Given the description of an element on the screen output the (x, y) to click on. 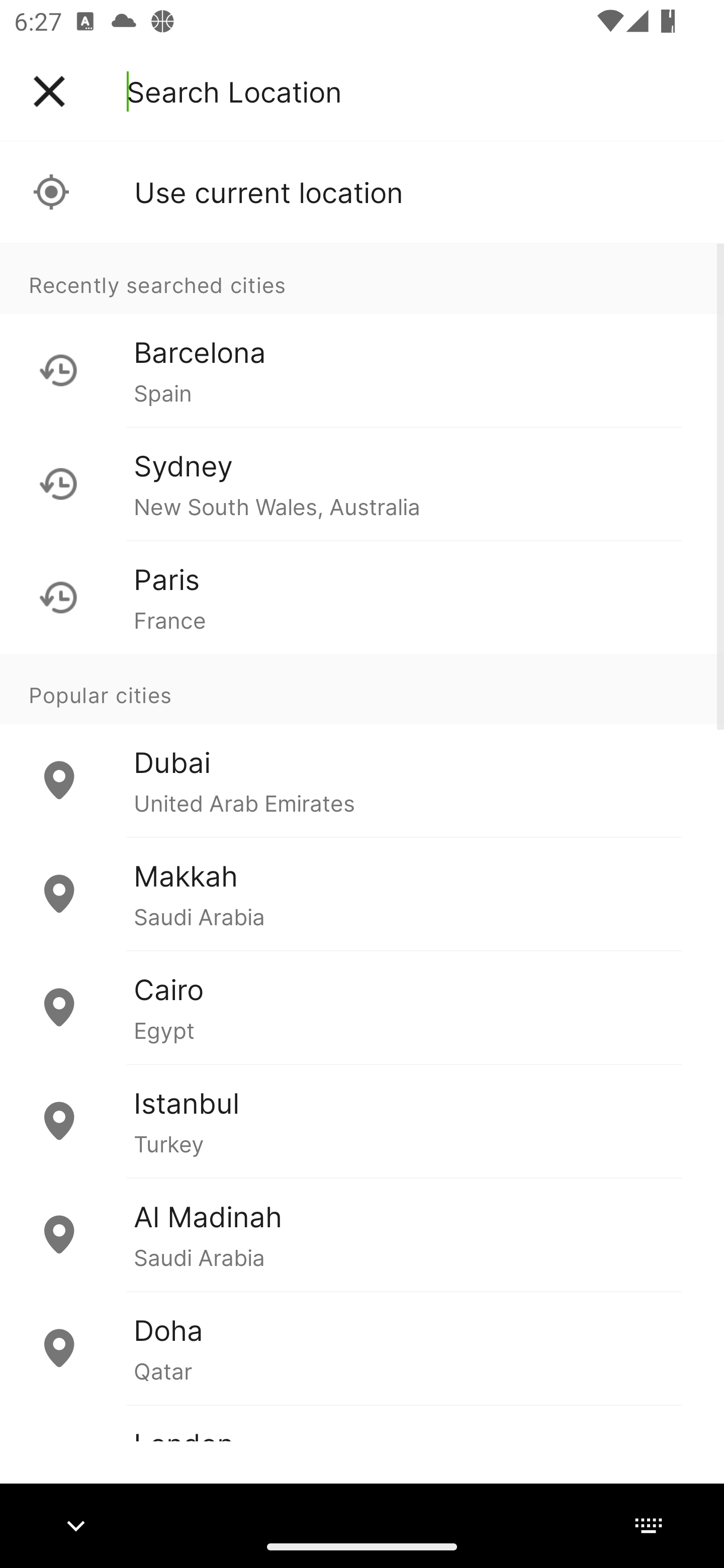
Search Location (234, 91)
Use current location (362, 192)
Recently searched cities Barcelona Spain (362, 334)
Recently searched cities (362, 278)
Sydney New South Wales, Australia (362, 483)
Paris France (362, 596)
Popular cities Dubai United Arab Emirates (362, 745)
Popular cities (362, 688)
Makkah Saudi Arabia (362, 893)
Cairo Egypt (362, 1007)
Istanbul Turkey (362, 1120)
Al Madinah Saudi Arabia (362, 1233)
Doha Qatar (362, 1347)
